Given the description of an element on the screen output the (x, y) to click on. 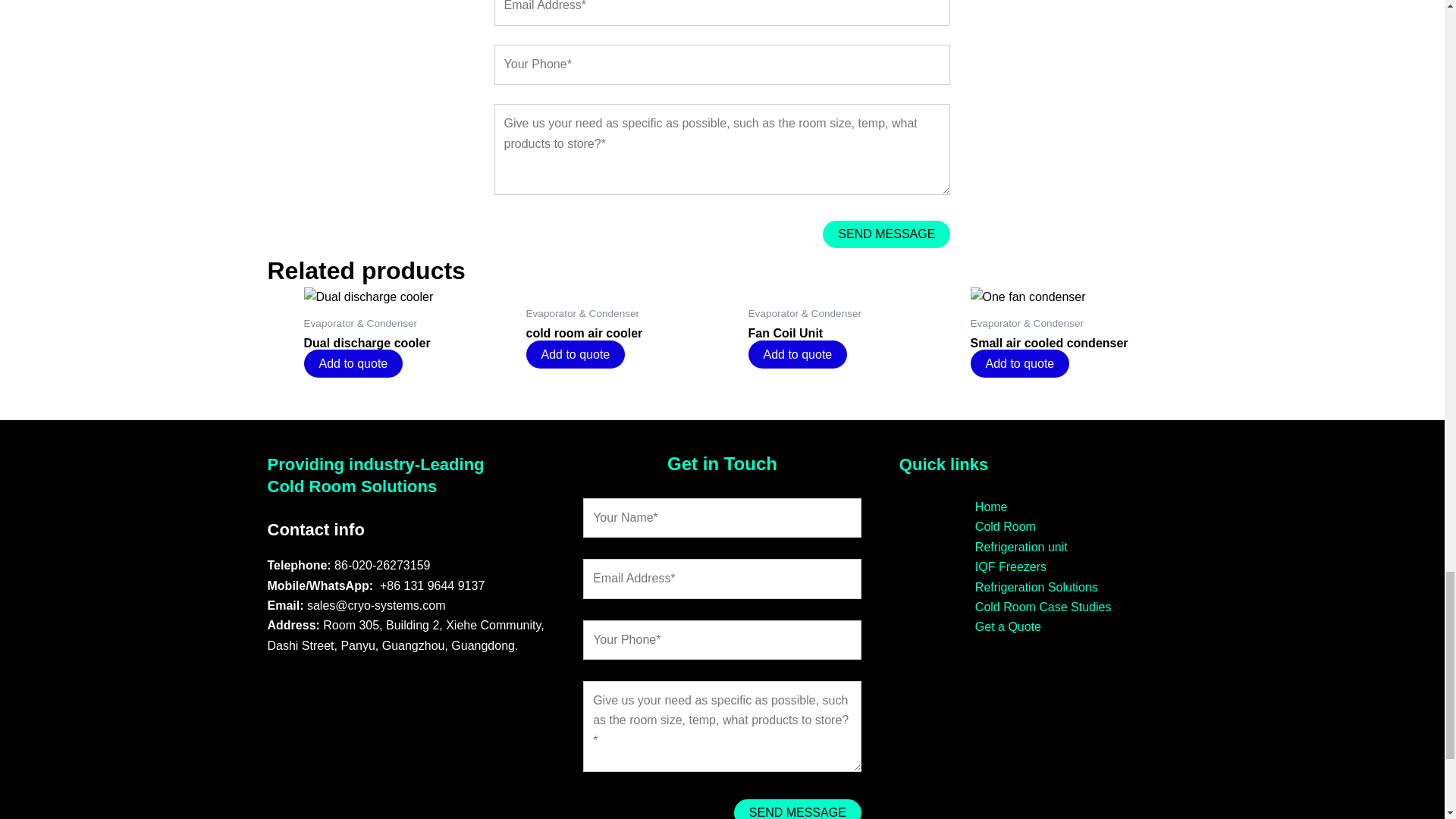
SEND MESSAGE (797, 809)
SEND MESSAGE (886, 234)
